Given the description of an element on the screen output the (x, y) to click on. 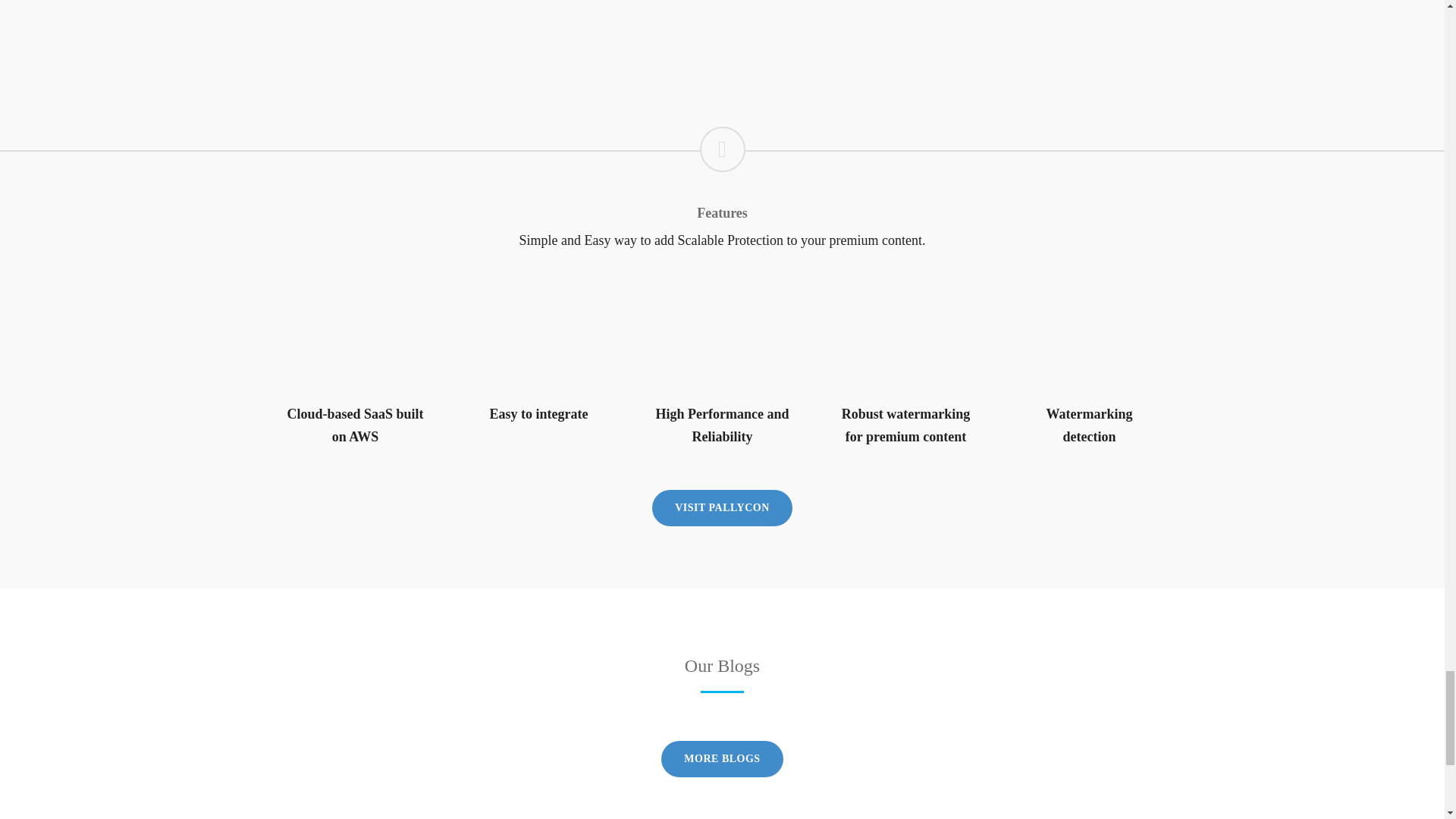
MORE BLOGS (722, 759)
VISIT PALLYCON (722, 507)
